Given the description of an element on the screen output the (x, y) to click on. 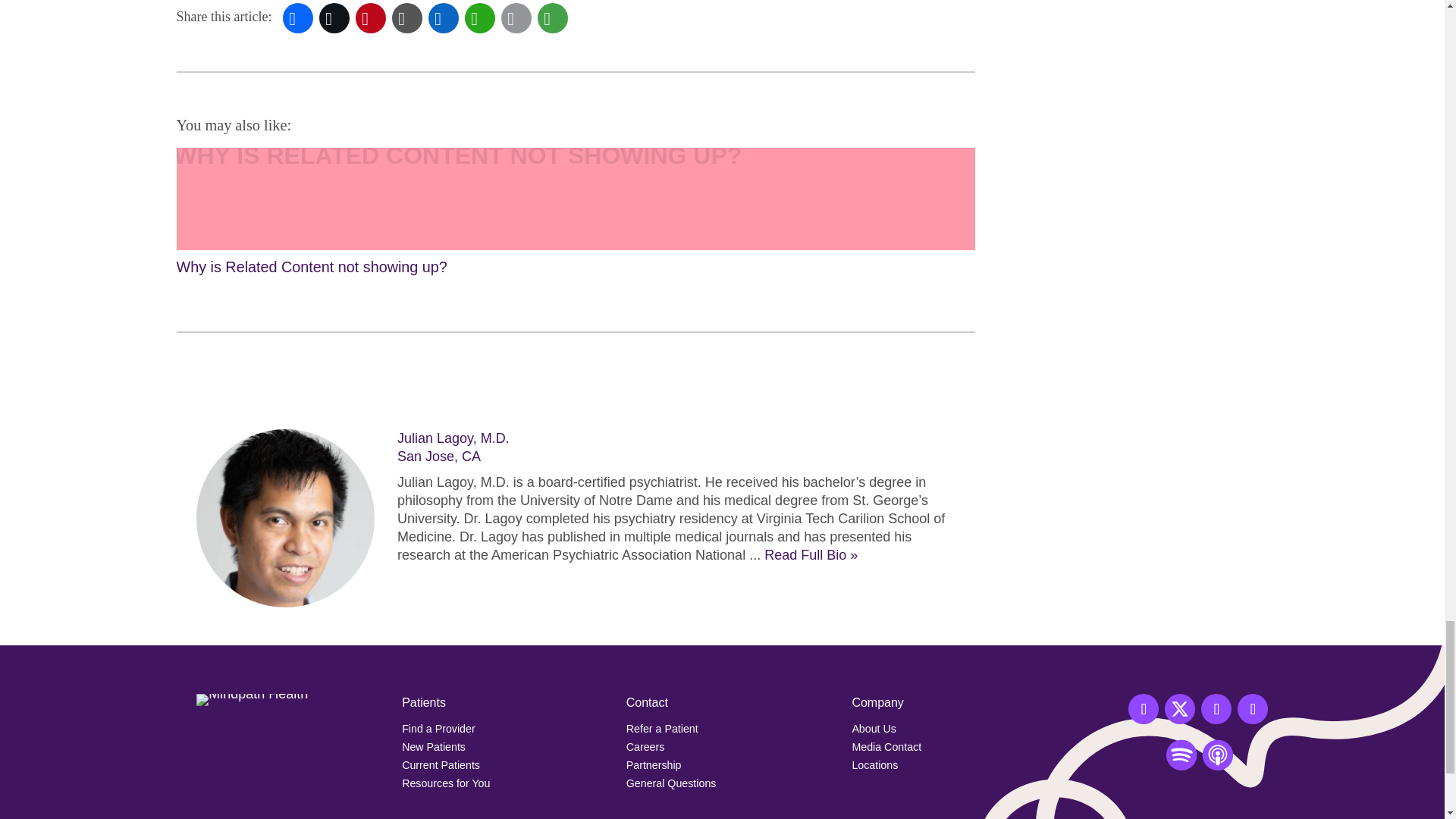
LinkedIn (443, 18)
mindpath-logo-reverse-400 (251, 699)
WhatsApp (479, 18)
Follow on LinkedIn (1252, 708)
Find A Provider (438, 728)
More Options (552, 18)
Follow on Instagram (1216, 708)
Follow on Twitter (1179, 708)
Why is Related Content not showing up? (575, 213)
Pinterest (370, 18)
Facebook (297, 18)
Follow on Facebook (1143, 708)
Email This (515, 18)
Copy Link (406, 18)
